Given the description of an element on the screen output the (x, y) to click on. 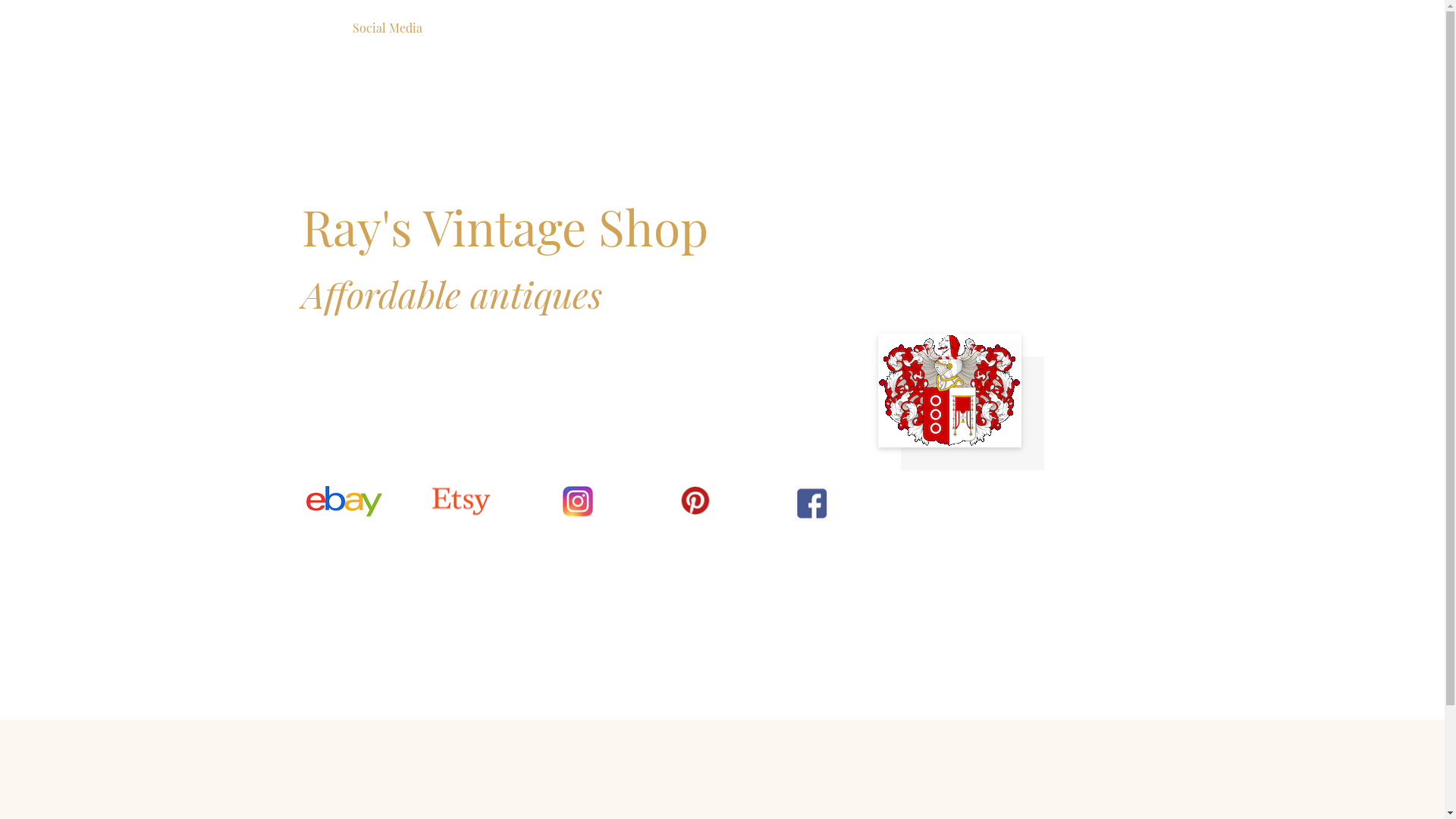
Ray's vintage shop on pinterest Element type: hover (577, 501)
Ray's vintage shop on Pinterest Element type: hover (694, 500)
Ray's vintage shop on Etsy Element type: hover (460, 501)
Social Media Element type: text (386, 27)
Ray's vintage shop on Ebay Element type: hover (343, 501)
Ray's vintage shop on Facebook Element type: hover (811, 503)
Gallery Element type: text (453, 27)
Home Element type: text (323, 27)
